Given the description of an element on the screen output the (x, y) to click on. 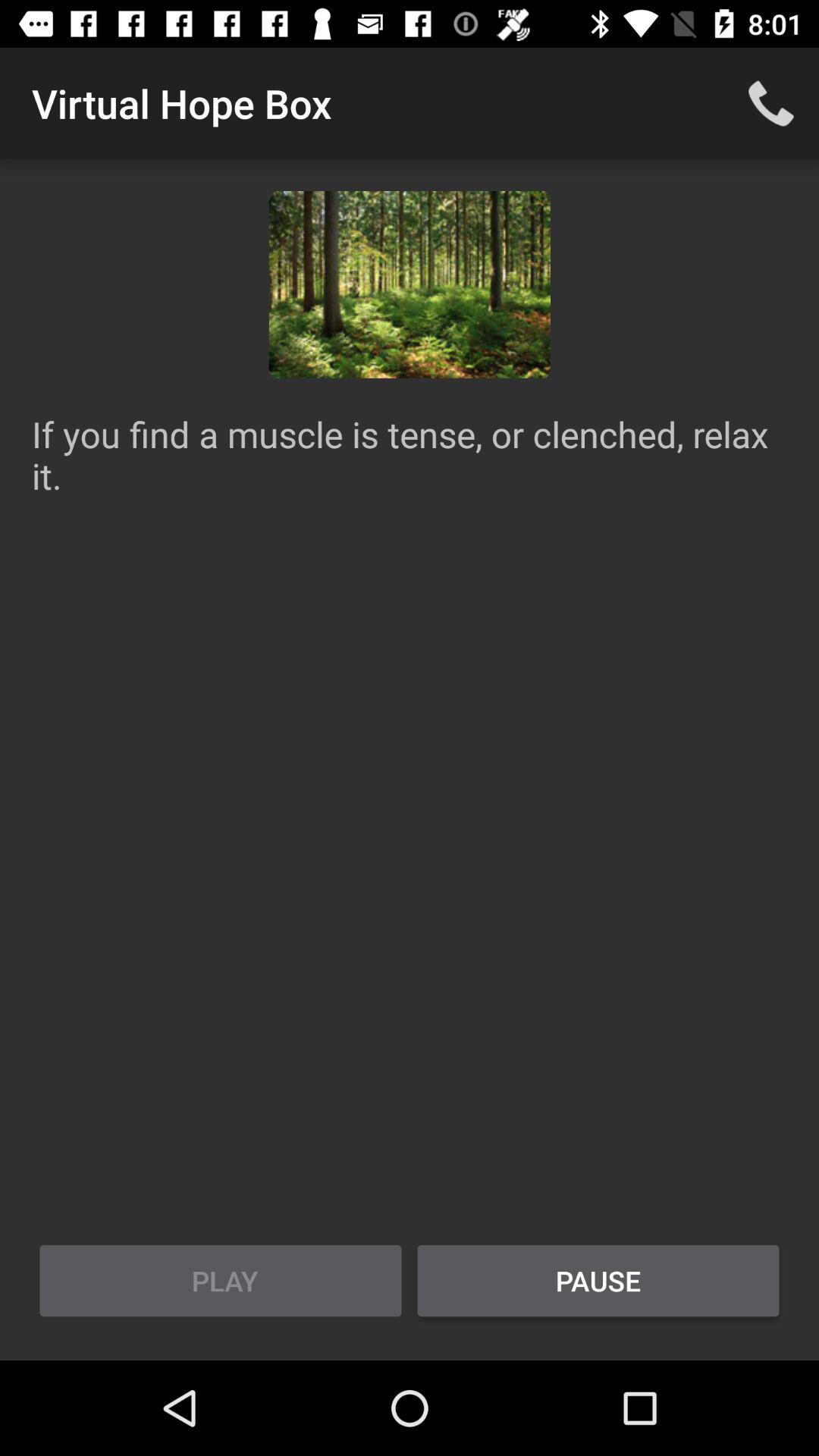
turn on the icon next to play icon (598, 1280)
